Given the description of an element on the screen output the (x, y) to click on. 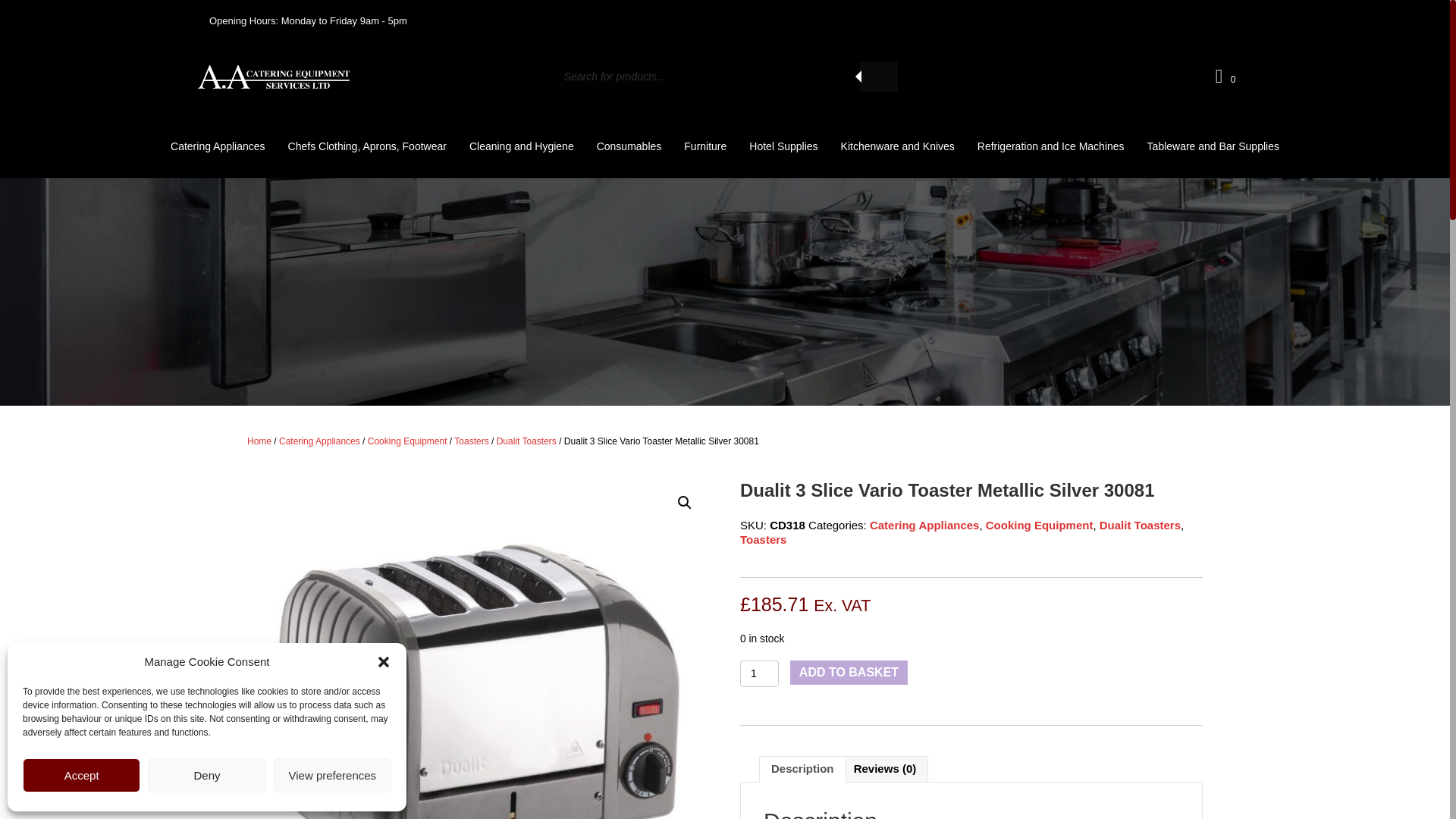
Furniture (705, 145)
aa-catering-logo (273, 76)
Tableware and Bar Supplies (1213, 145)
Cooking Equipment (407, 440)
Toasters (762, 539)
Cleaning and Hygiene (520, 145)
Consumables (629, 145)
ADD TO BASKET (848, 672)
Deny (206, 775)
View preferences (332, 775)
Dualit Toasters (526, 440)
Catering Appliances (923, 524)
Hotel Supplies (783, 145)
Kitchenware and Knives (897, 145)
Refrigeration and Ice Machines (1050, 145)
